Given the description of an element on the screen output the (x, y) to click on. 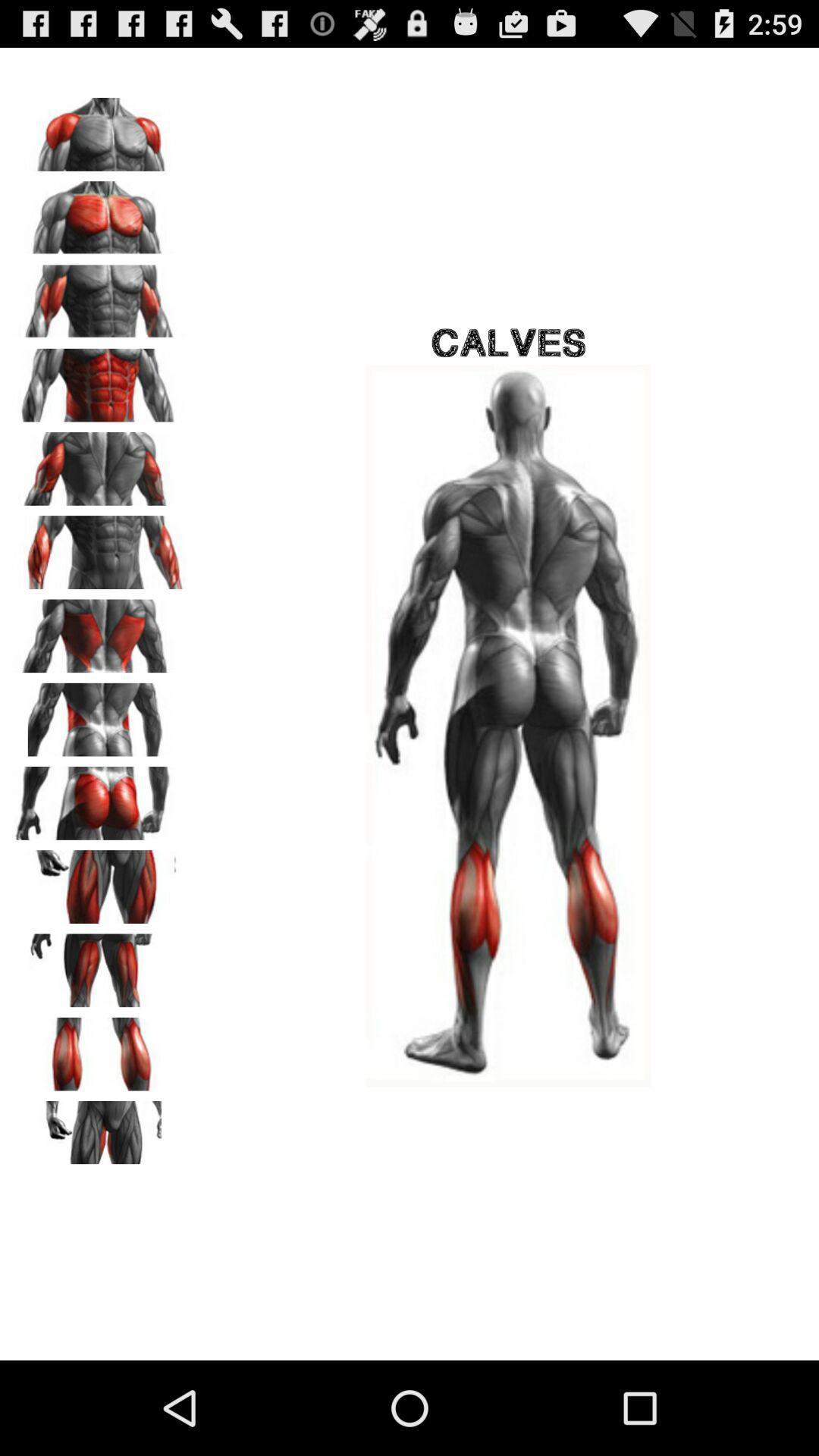
advertisement (99, 714)
